Given the description of an element on the screen output the (x, y) to click on. 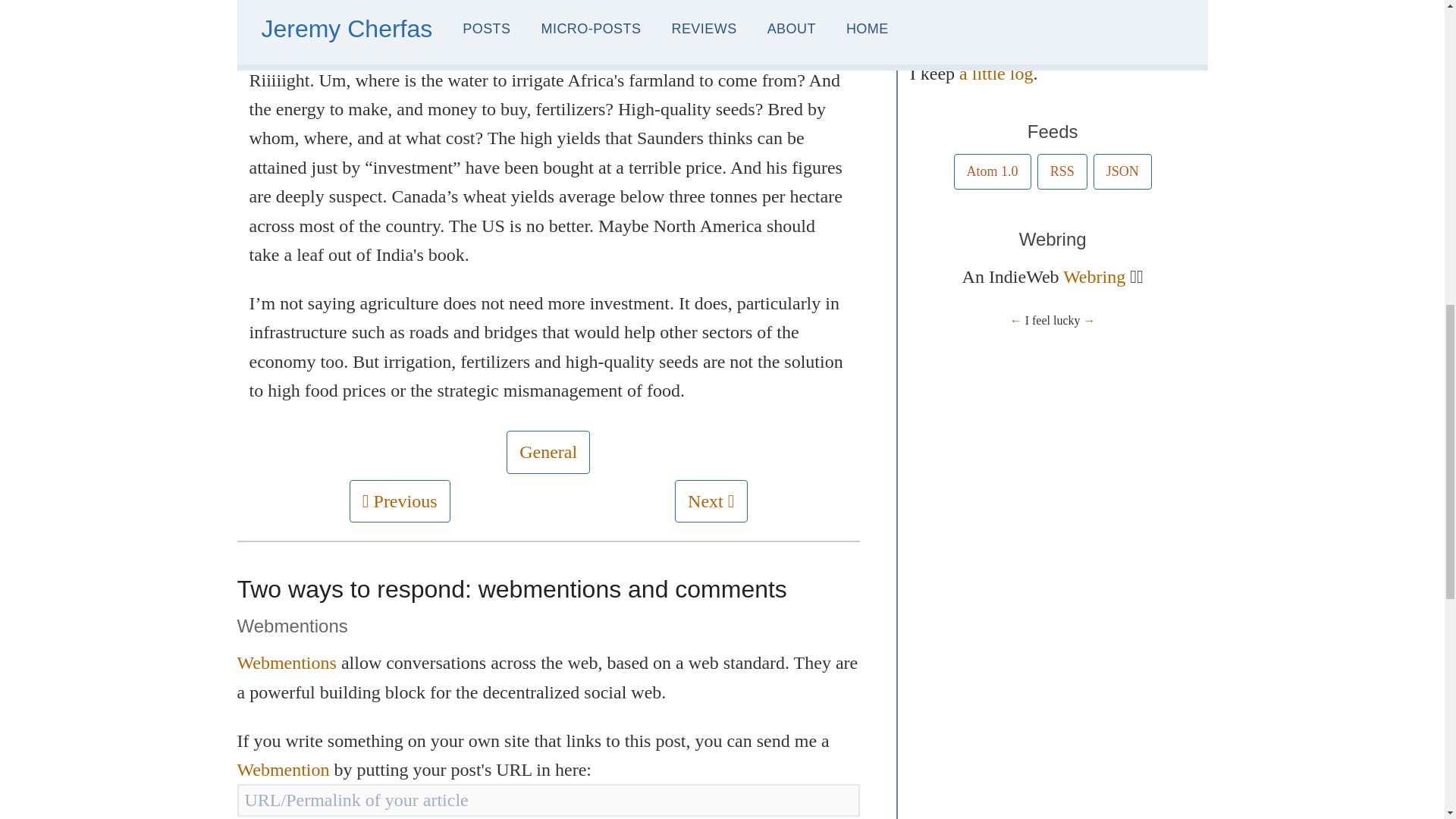
Previous (399, 500)
Next (710, 500)
Webmention (284, 769)
Next (710, 501)
Previous (400, 501)
Webmentions (287, 662)
General (547, 451)
General (547, 451)
